Given the description of an element on the screen output the (x, y) to click on. 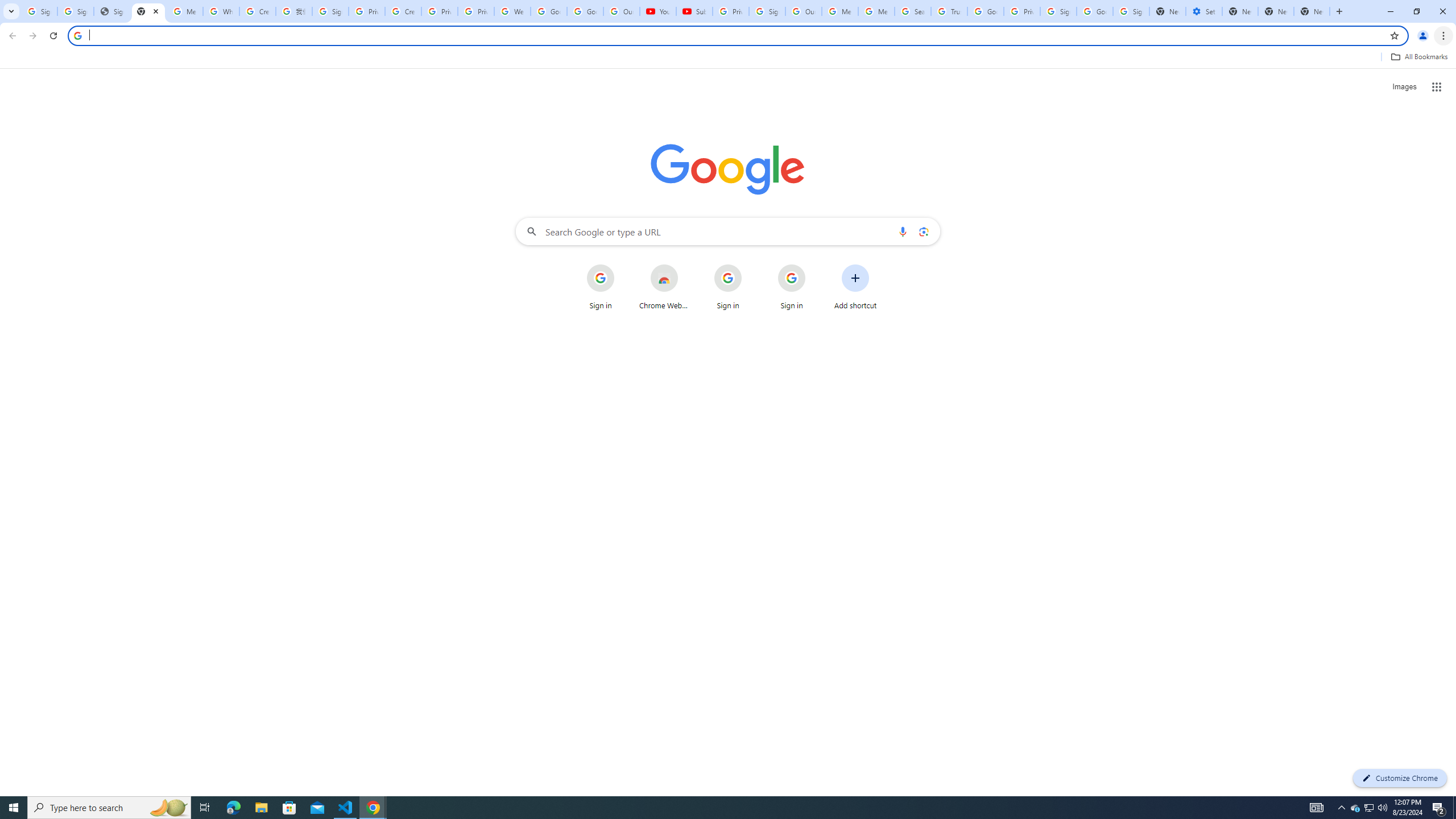
Forward (32, 35)
Add shortcut (855, 287)
Search by image (922, 230)
Sign in - Google Accounts (1058, 11)
More actions for Chrome Web Store shortcut (686, 265)
Sign in - Google Accounts (1131, 11)
Subscriptions - YouTube (694, 11)
Search for Images  (1403, 87)
Sign in (792, 287)
Search tabs (10, 11)
Sign in - Google Accounts (75, 11)
